Given the description of an element on the screen output the (x, y) to click on. 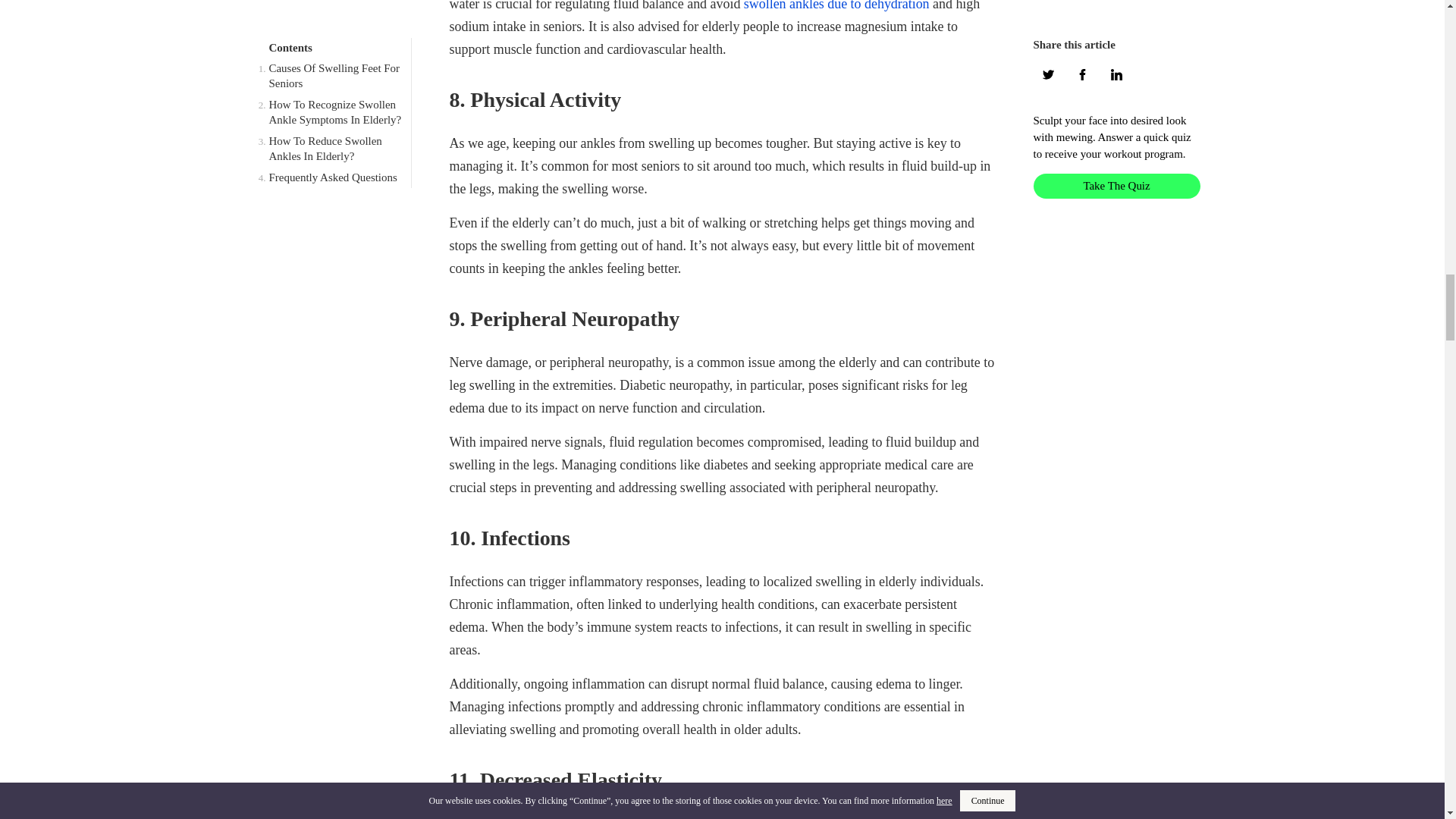
swollen ankles due to dehydration (837, 5)
